Given the description of an element on the screen output the (x, y) to click on. 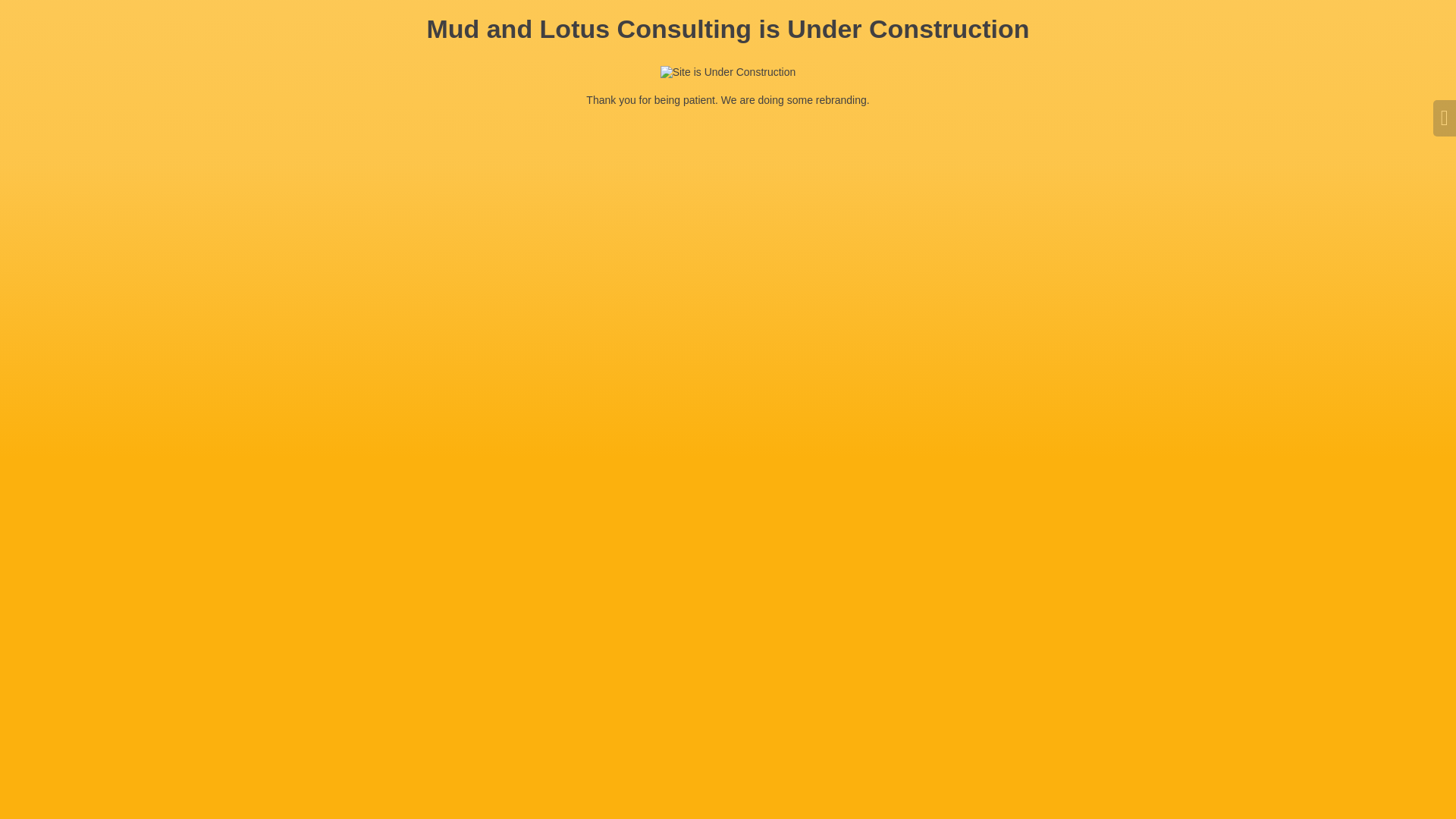
Site is Under Construction (728, 72)
